Given the description of an element on the screen output the (x, y) to click on. 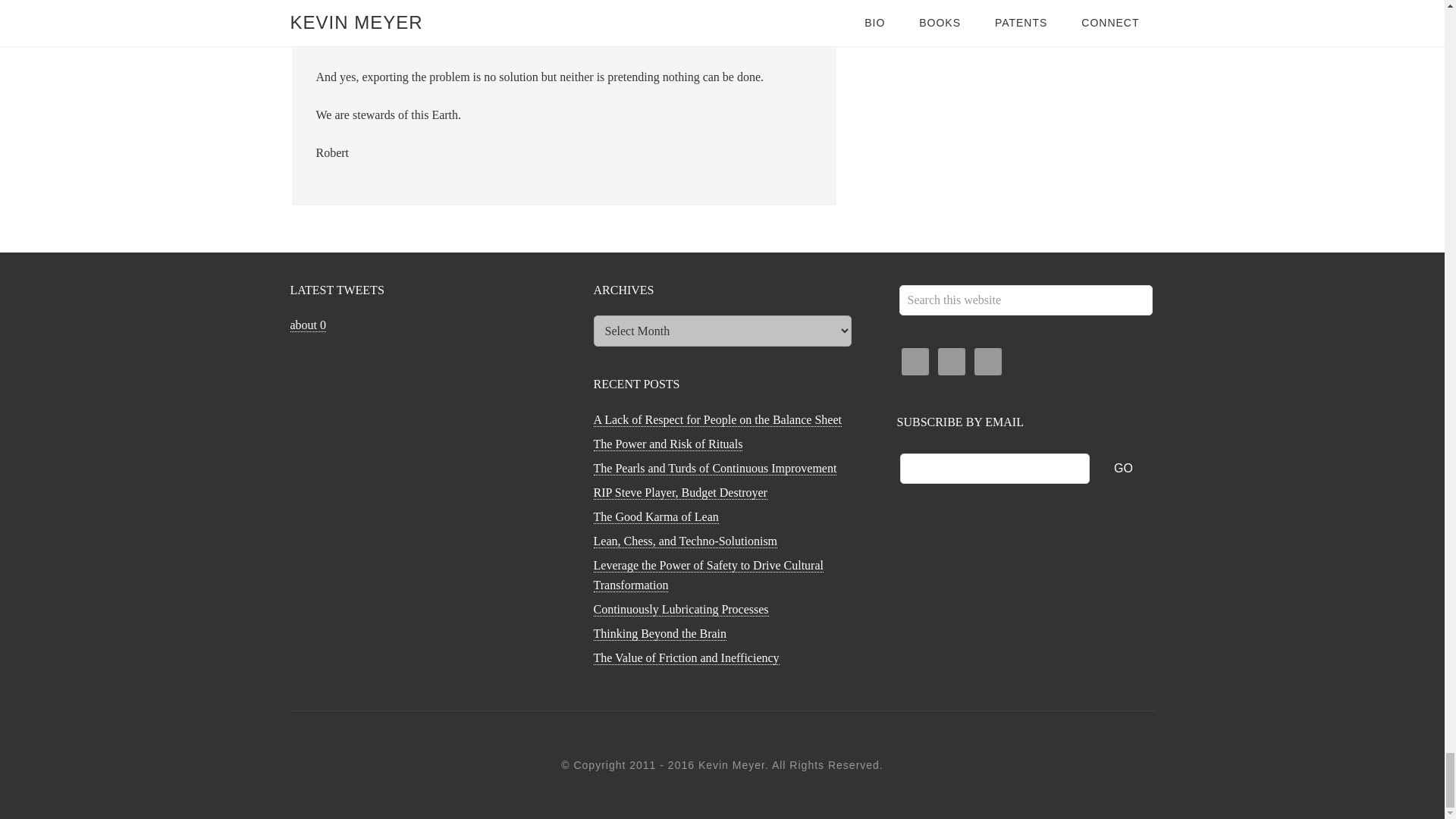
Go (1123, 468)
